Given the description of an element on the screen output the (x, y) to click on. 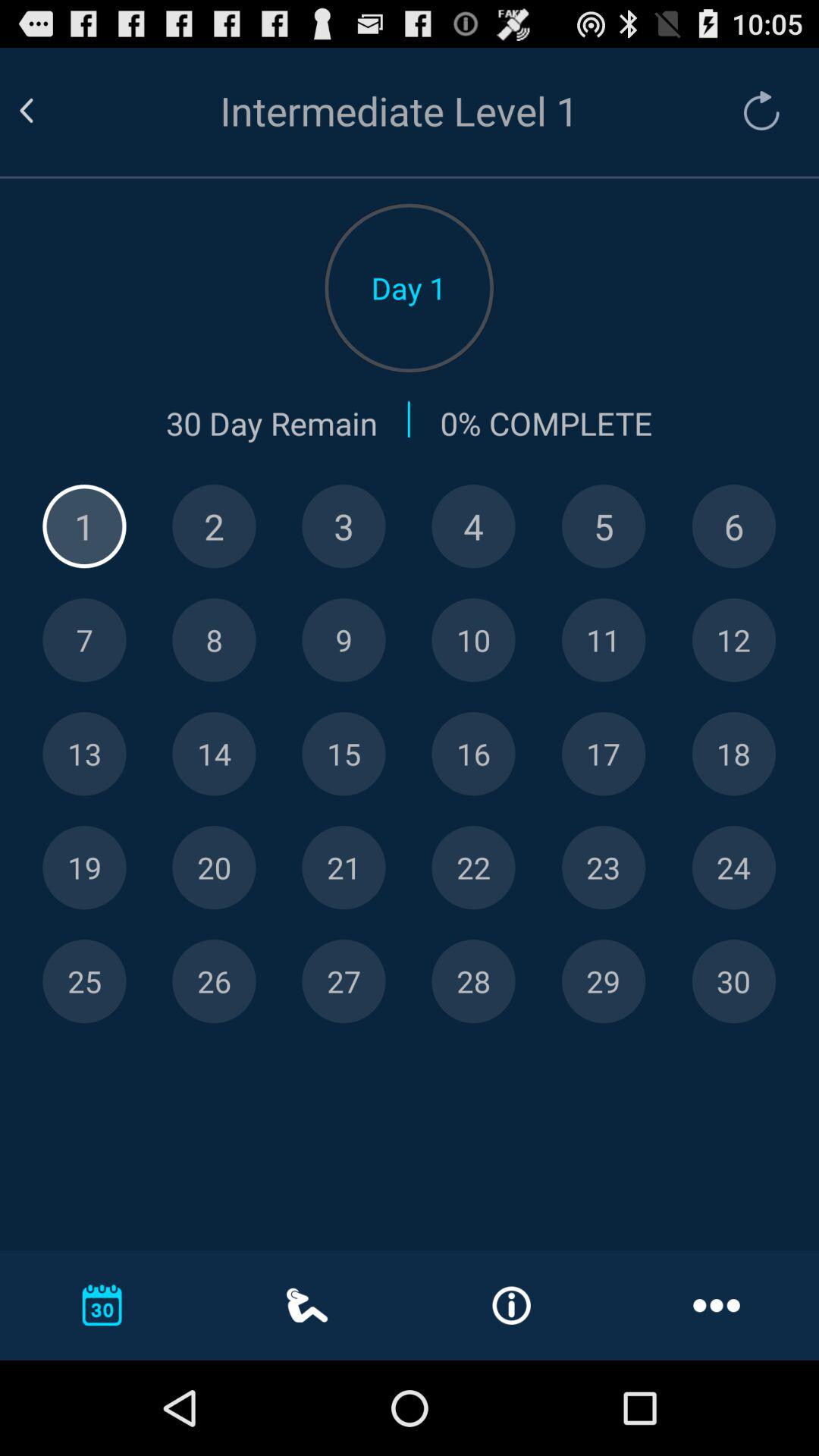
select number 15 (343, 753)
